Given the description of an element on the screen output the (x, y) to click on. 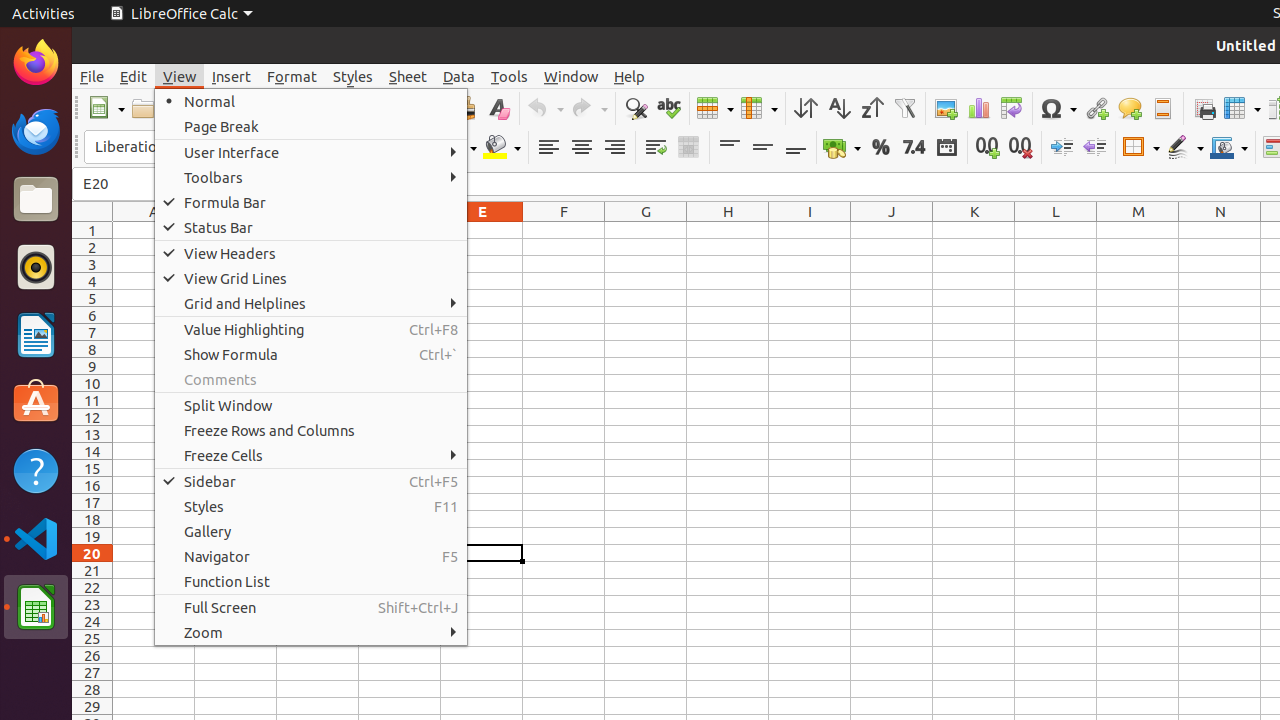
Currency Element type: push-button (842, 147)
Sort Ascending Element type: push-button (838, 108)
LibreOffice Calc Element type: menu (181, 13)
Align Left Element type: push-button (548, 147)
I1 Element type: table-cell (810, 230)
